Given the description of an element on the screen output the (x, y) to click on. 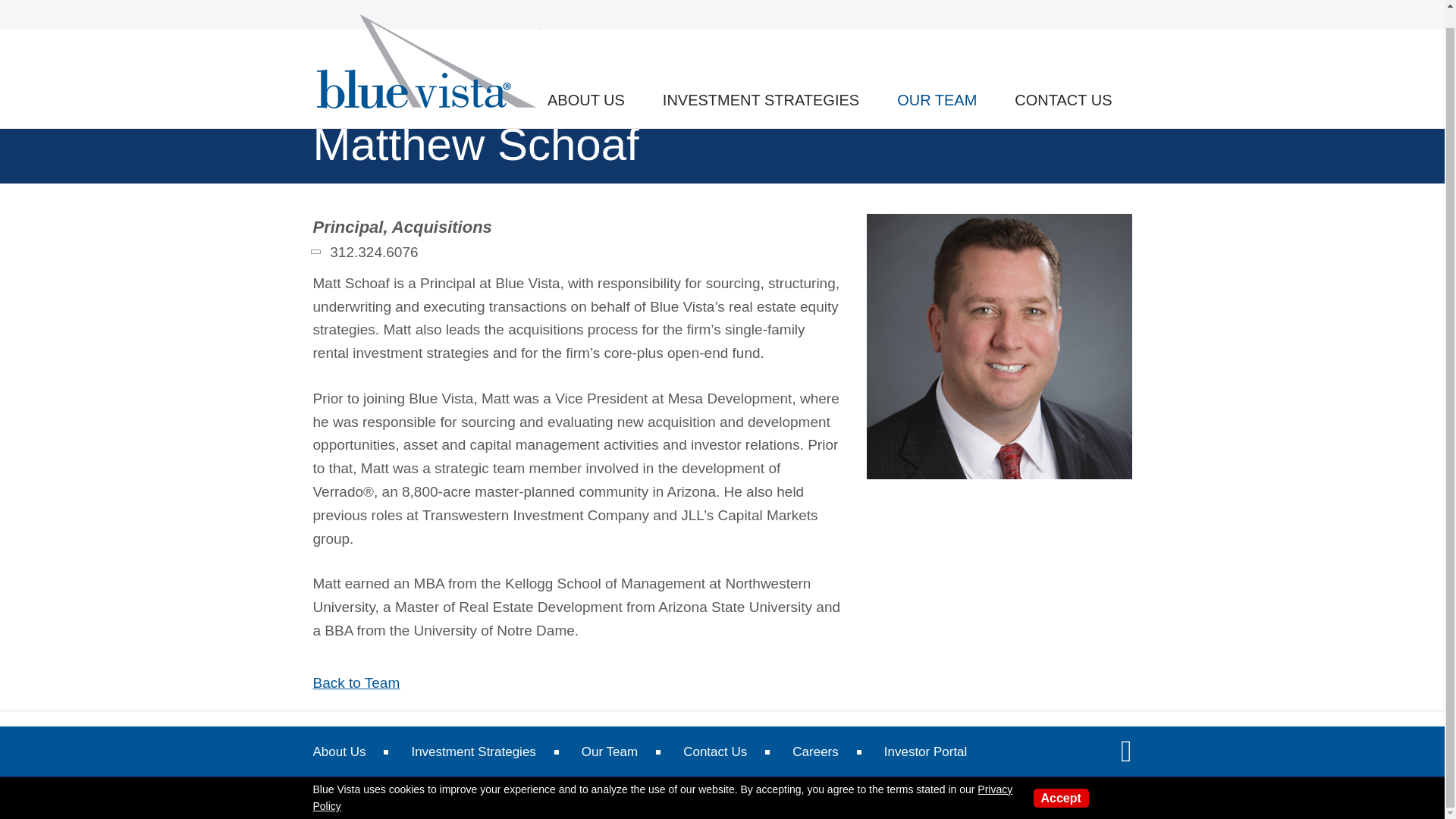
Accept (1059, 780)
Blue Vista (427, 45)
Our Team (608, 751)
Investment Strategies (472, 751)
Contact Us (714, 751)
Privacy Policy (662, 779)
Form CRS (597, 797)
CONTACT US (1063, 82)
ABOUT US (585, 82)
INVESTMENT STRATEGIES (760, 82)
